Given the description of an element on the screen output the (x, y) to click on. 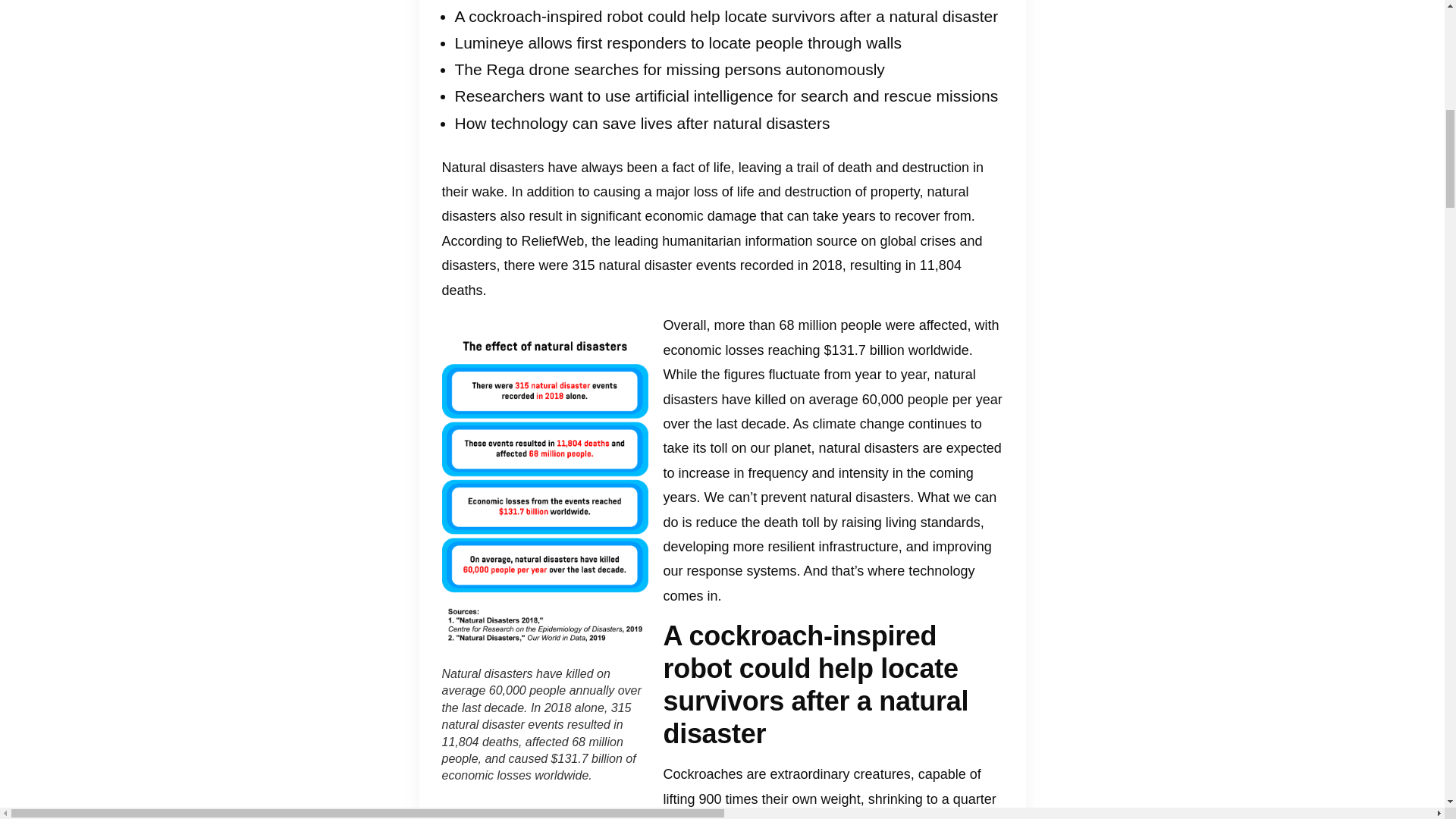
fluctuate (794, 374)
According to (478, 240)
